Given the description of an element on the screen output the (x, y) to click on. 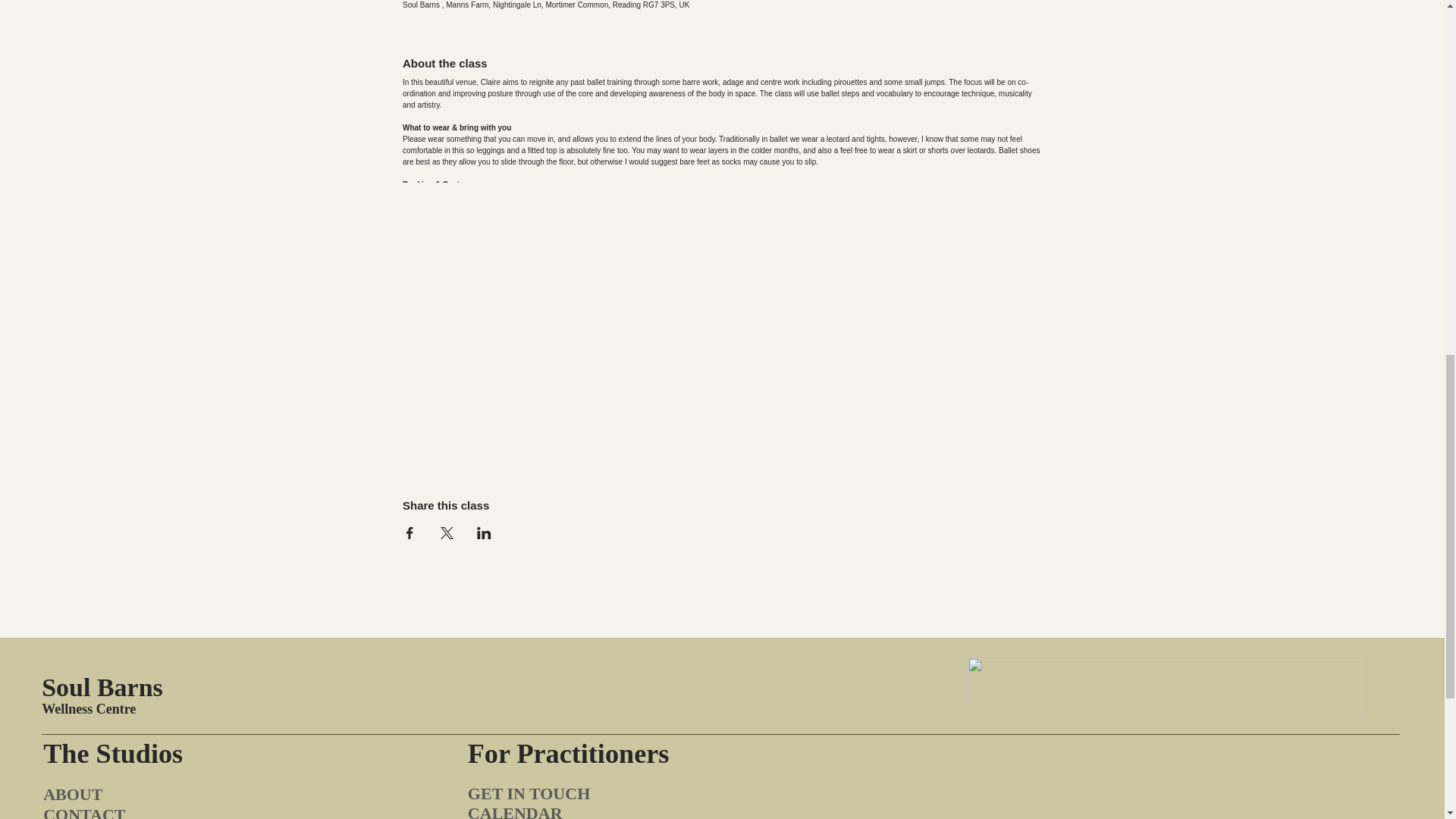
Soul Barns (102, 687)
CALENDAR (514, 811)
GET IN TOUCH (528, 793)
ABOUT (72, 793)
CONTACT (84, 812)
